Given the description of an element on the screen output the (x, y) to click on. 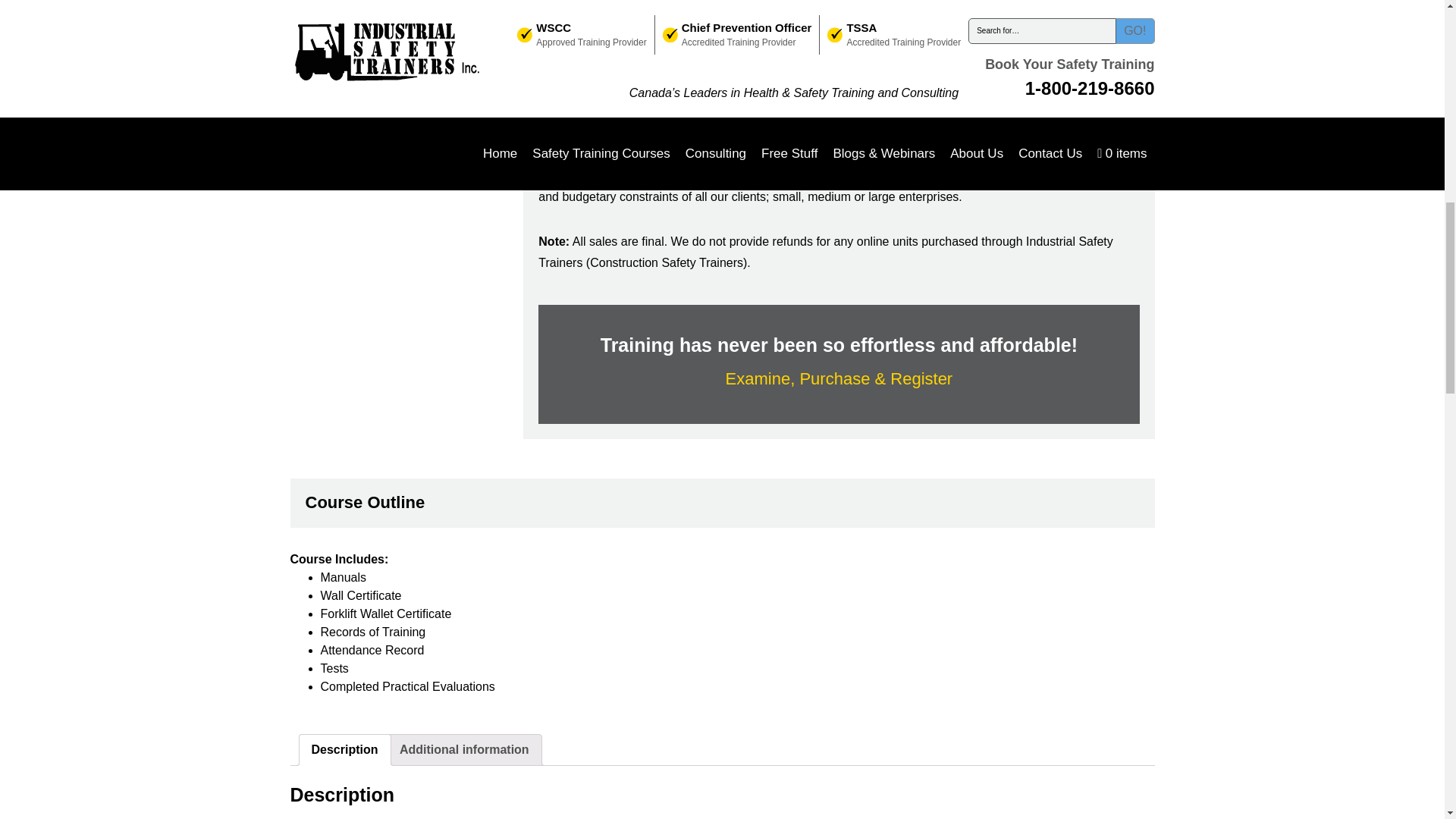
Description (344, 749)
Additional information (463, 749)
